Given the description of an element on the screen output the (x, y) to click on. 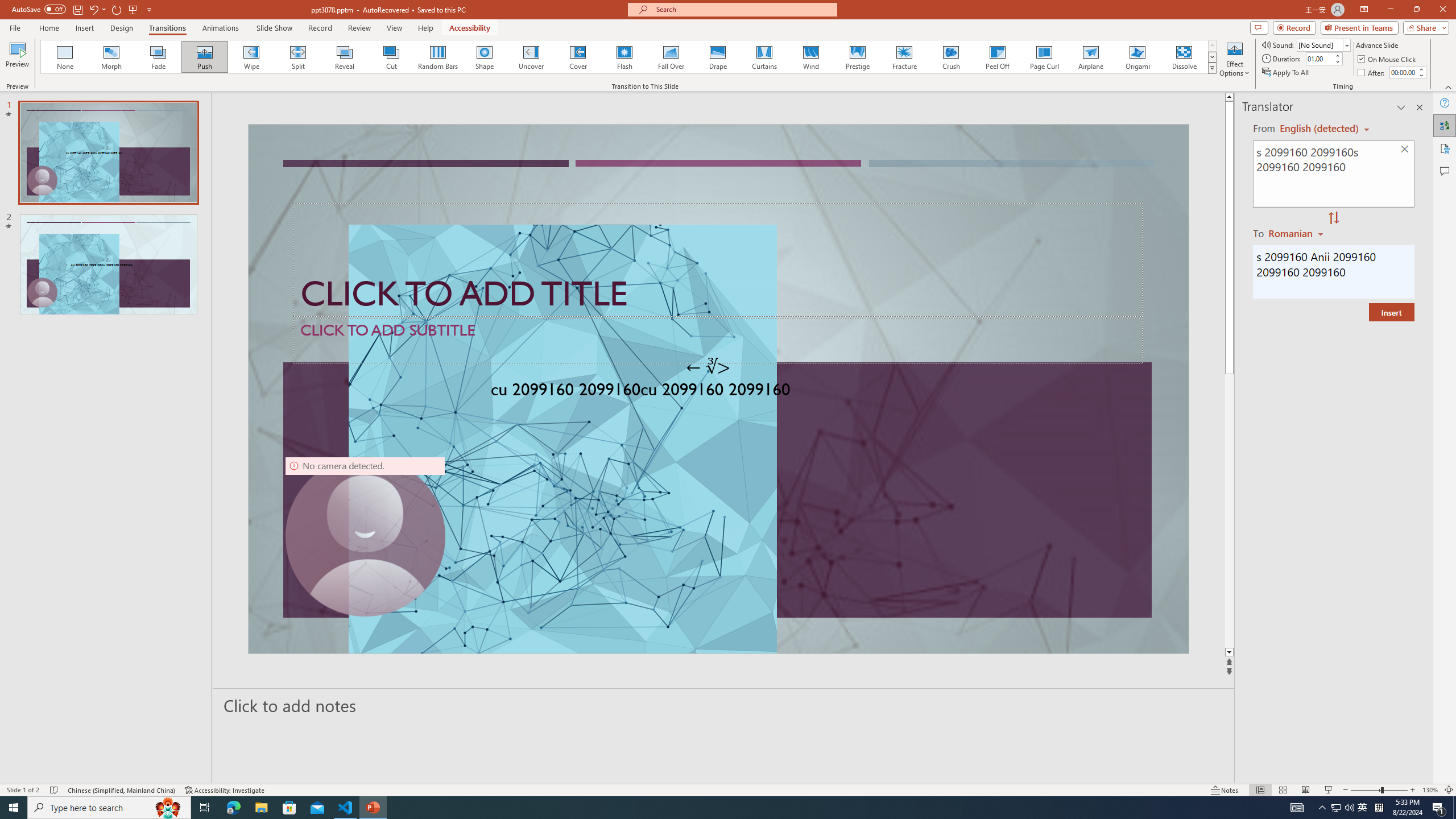
Czech (detected) (1319, 128)
Apply To All (1286, 72)
TextBox 7 (708, 367)
Dissolve (1183, 56)
Sound (1324, 44)
